Given the description of an element on the screen output the (x, y) to click on. 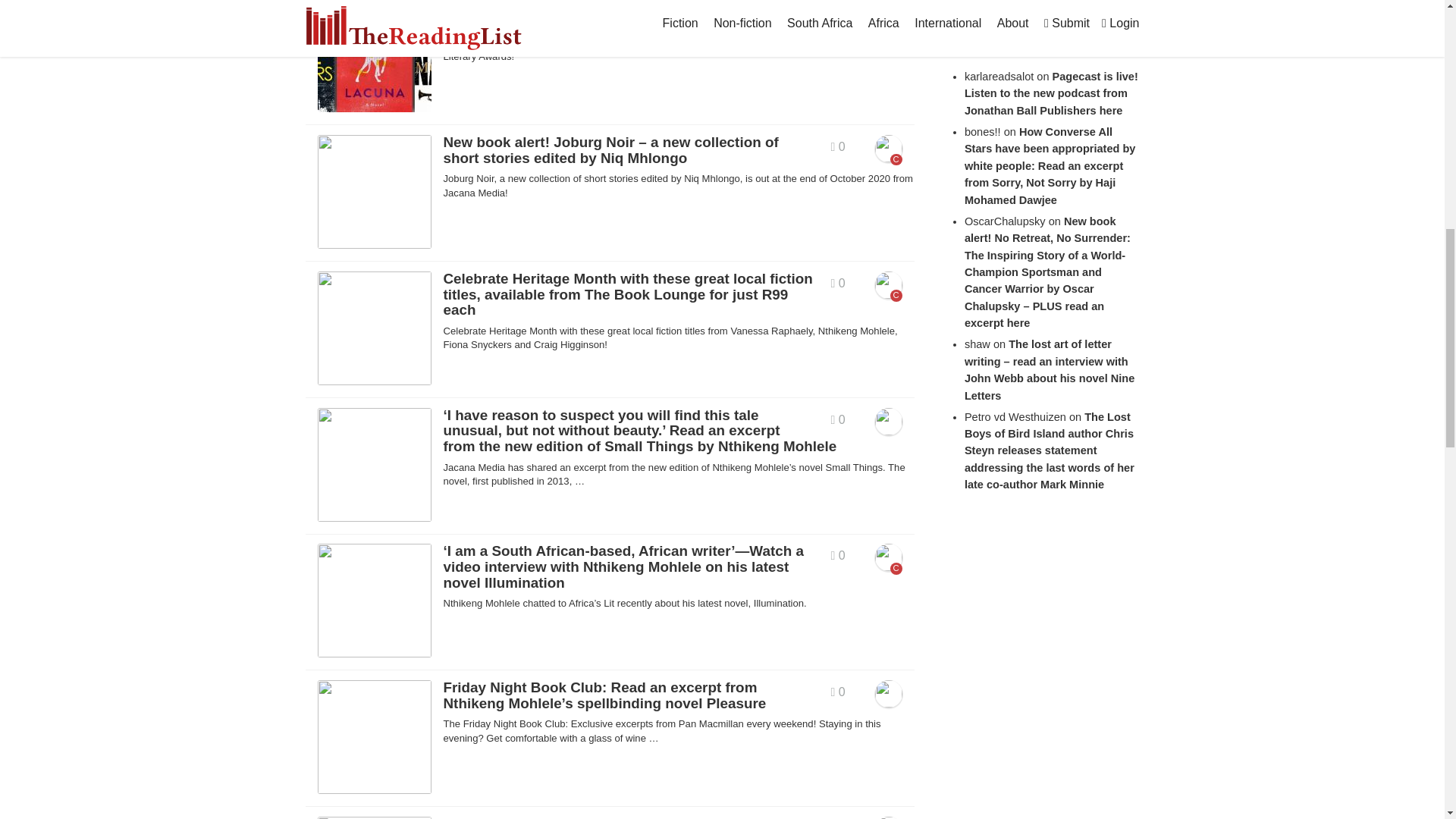
C (888, 14)
Pan Macmillan SA (888, 12)
Jacana Media (888, 148)
0 (838, 10)
